Given the description of an element on the screen output the (x, y) to click on. 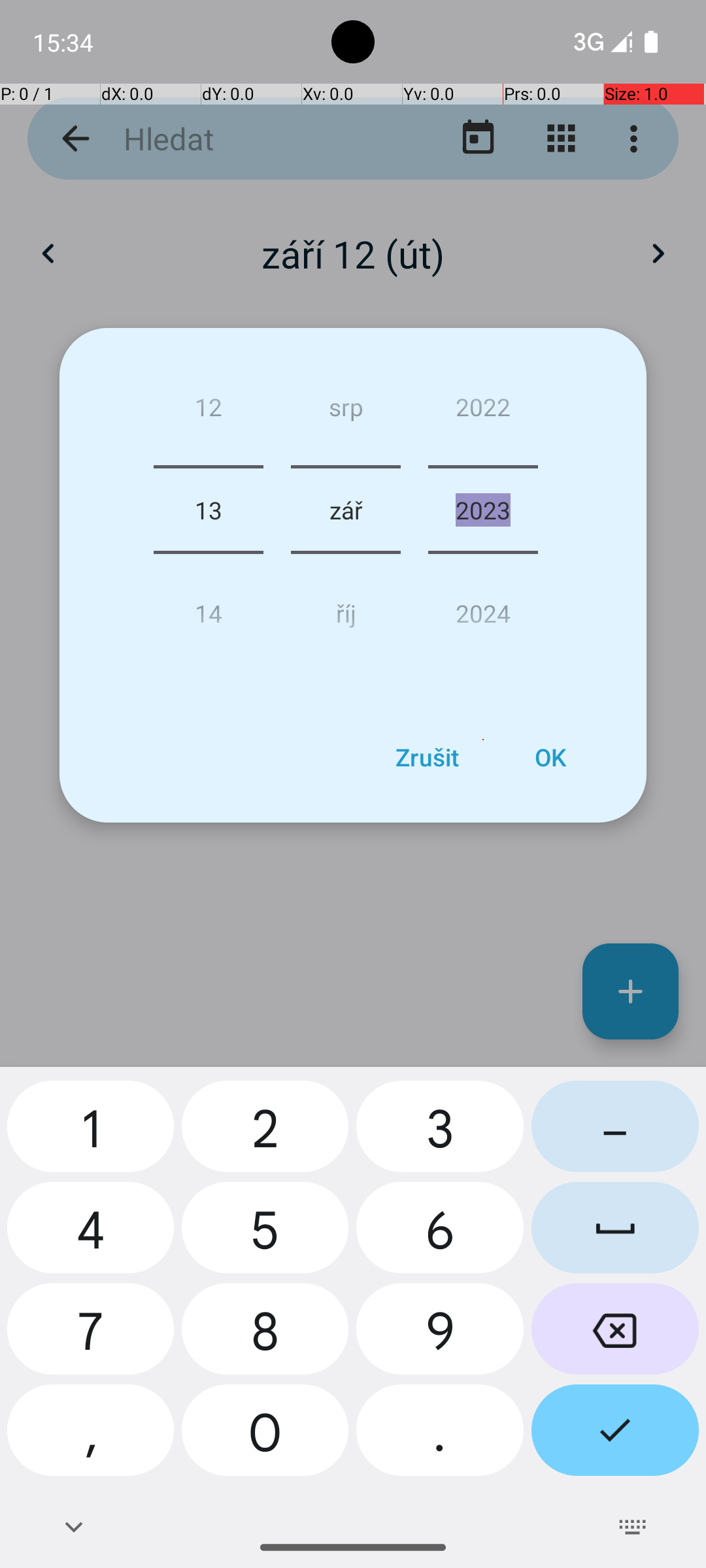
Zrušit Element type: android.widget.Button (426, 757)
srp Element type: android.widget.Button (345, 411)
zář Element type: android.widget.EditText (345, 509)
říj Element type: android.widget.Button (345, 607)
